Given the description of an element on the screen output the (x, y) to click on. 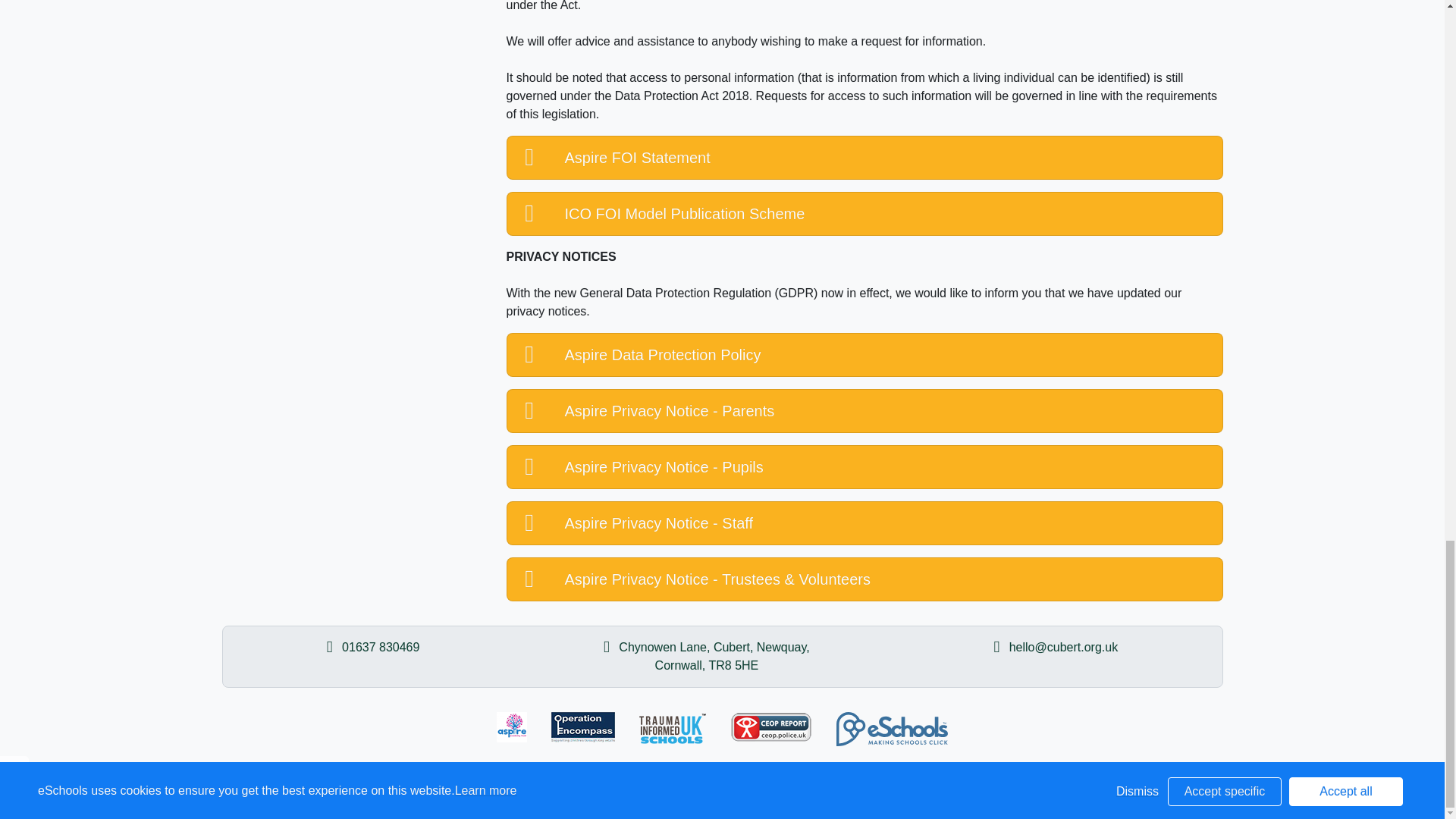
Operation Encompass (582, 726)
Trauma Informed (672, 728)
CEOP Report (771, 726)
Aspire (511, 726)
